Given the description of an element on the screen output the (x, y) to click on. 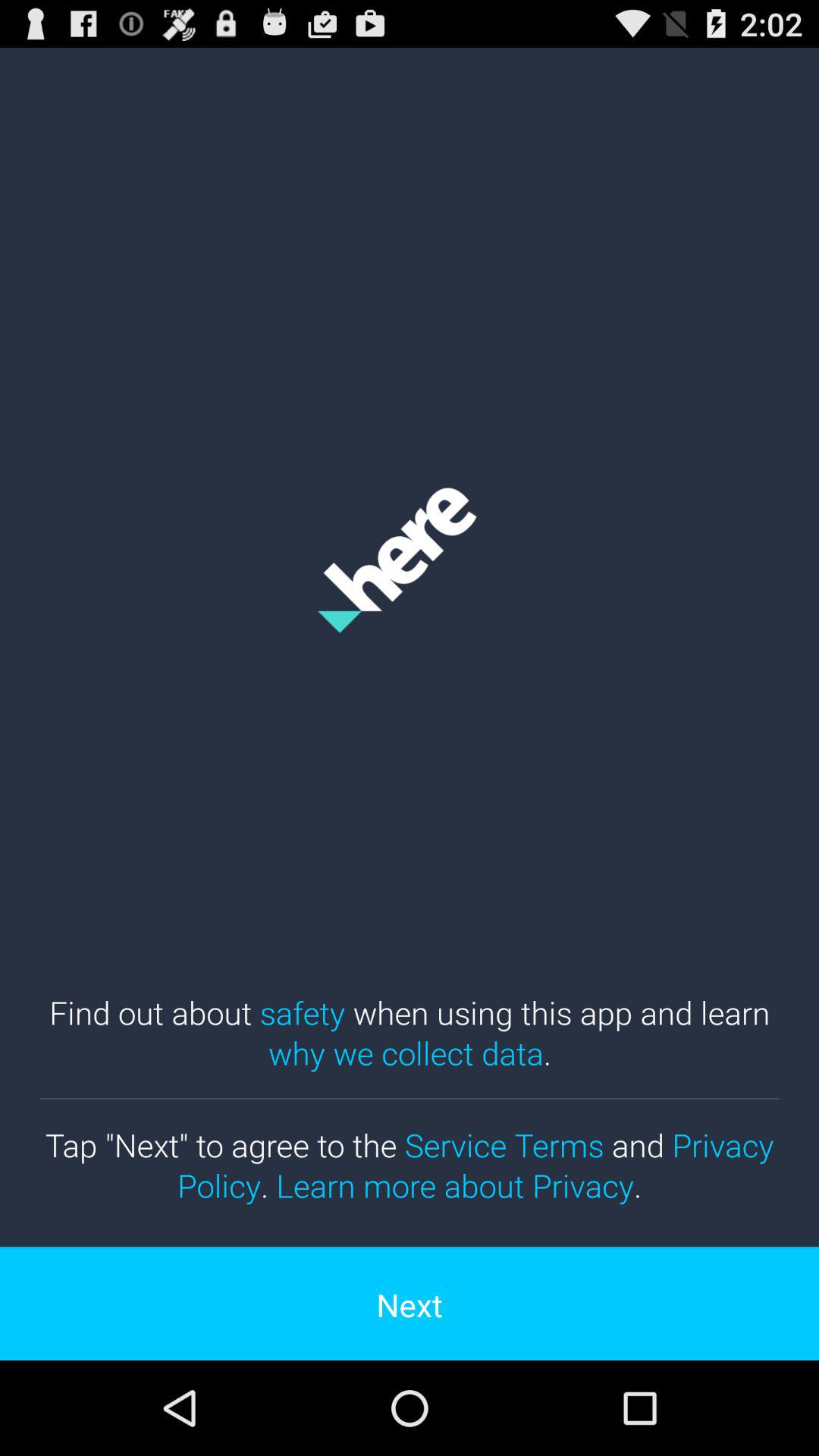
turn on find out about item (409, 1032)
